Given the description of an element on the screen output the (x, y) to click on. 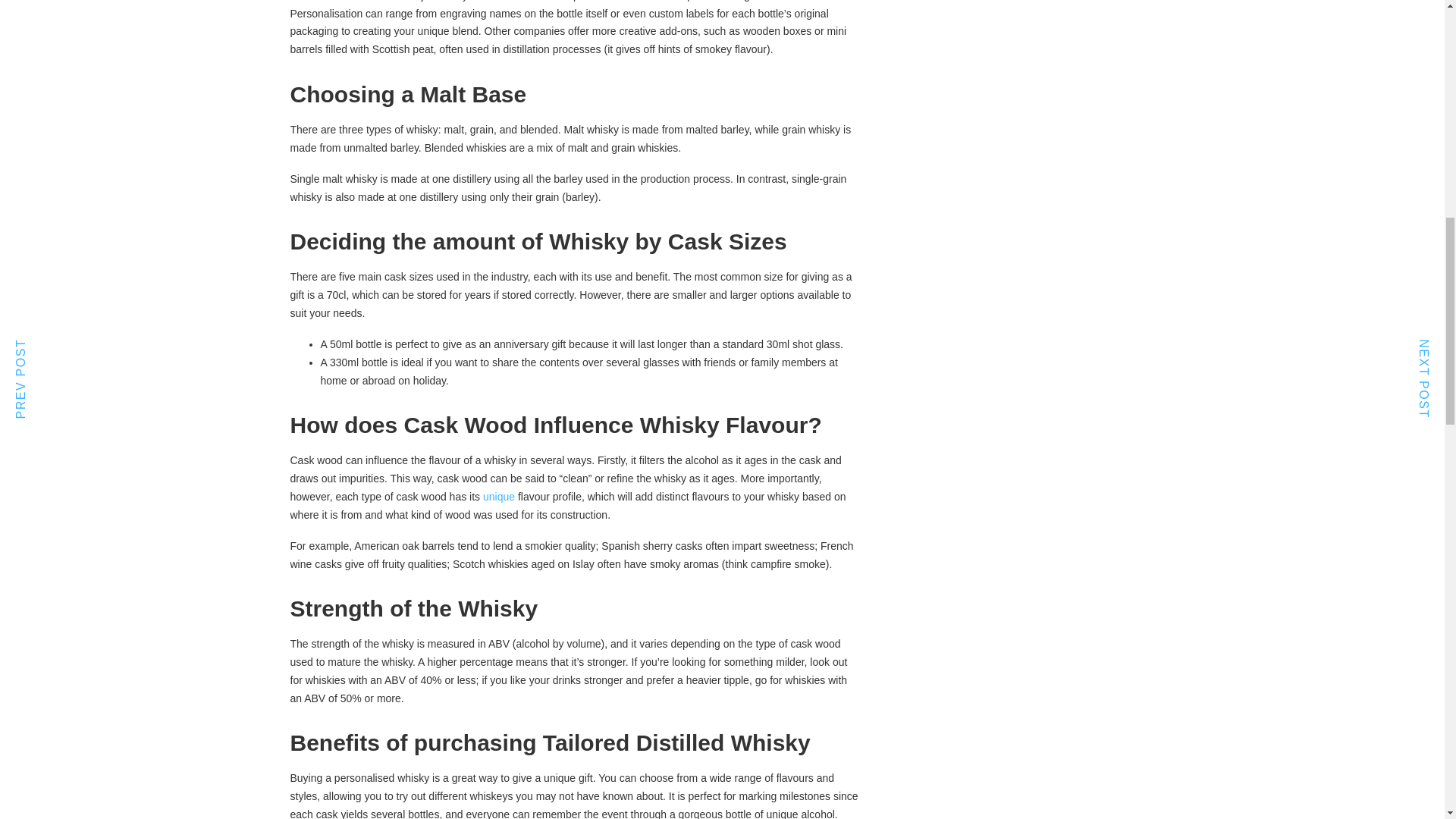
unique (499, 496)
